Given the description of an element on the screen output the (x, y) to click on. 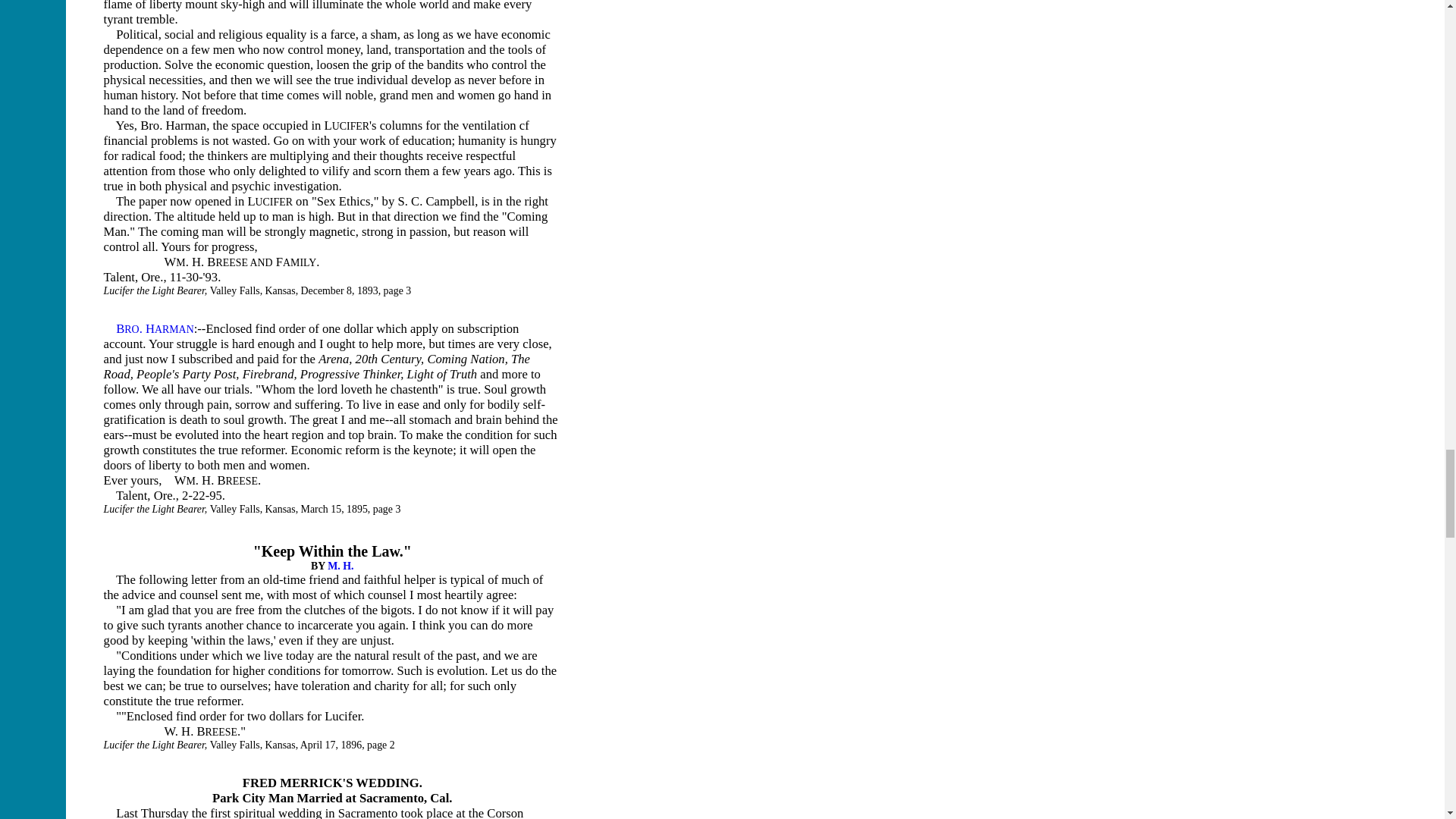
M. H. (340, 565)
BRO. HARMAN (154, 328)
